Given the description of an element on the screen output the (x, y) to click on. 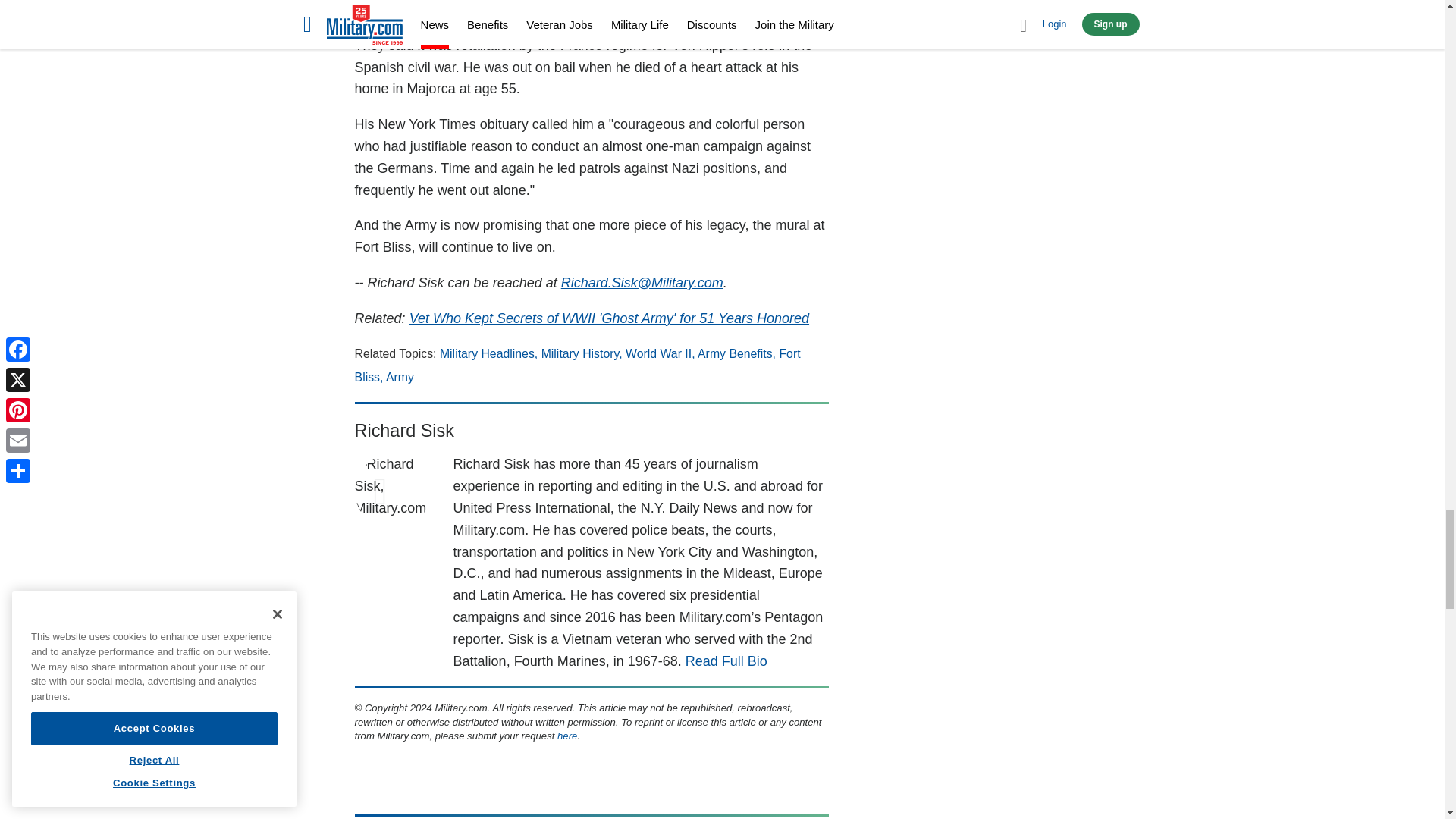
Richard Sisk, Military.com (392, 491)
